Given the description of an element on the screen output the (x, y) to click on. 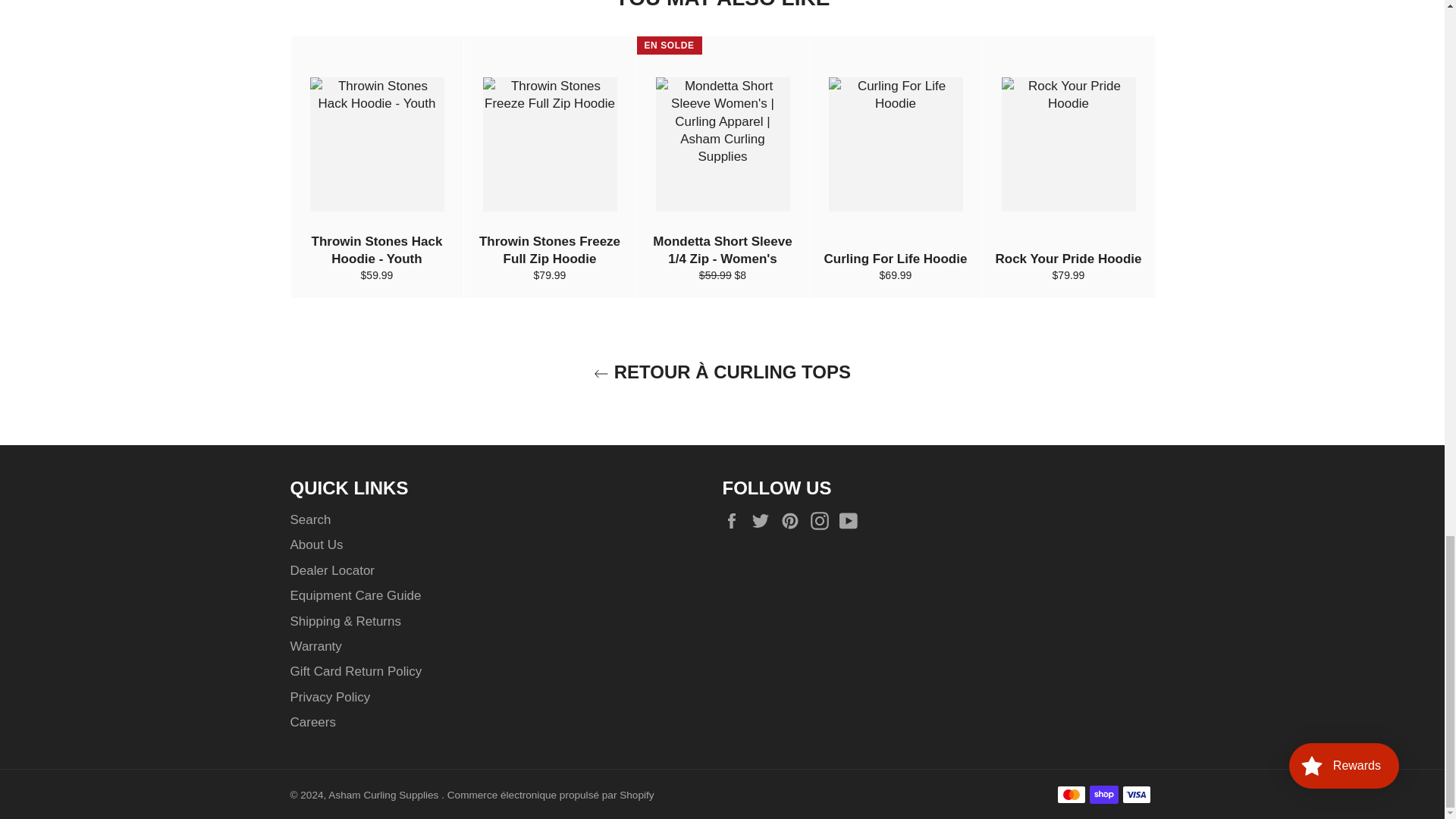
Asham Curling Supplies  sur YouTube (852, 520)
Asham Curling Supplies  sur Twitter (764, 520)
Asham Curling Supplies  sur Pinterest (793, 520)
Asham Curling Supplies  sur Facebook (735, 520)
Asham Curling Supplies  sur Instagram (822, 520)
